Given the description of an element on the screen output the (x, y) to click on. 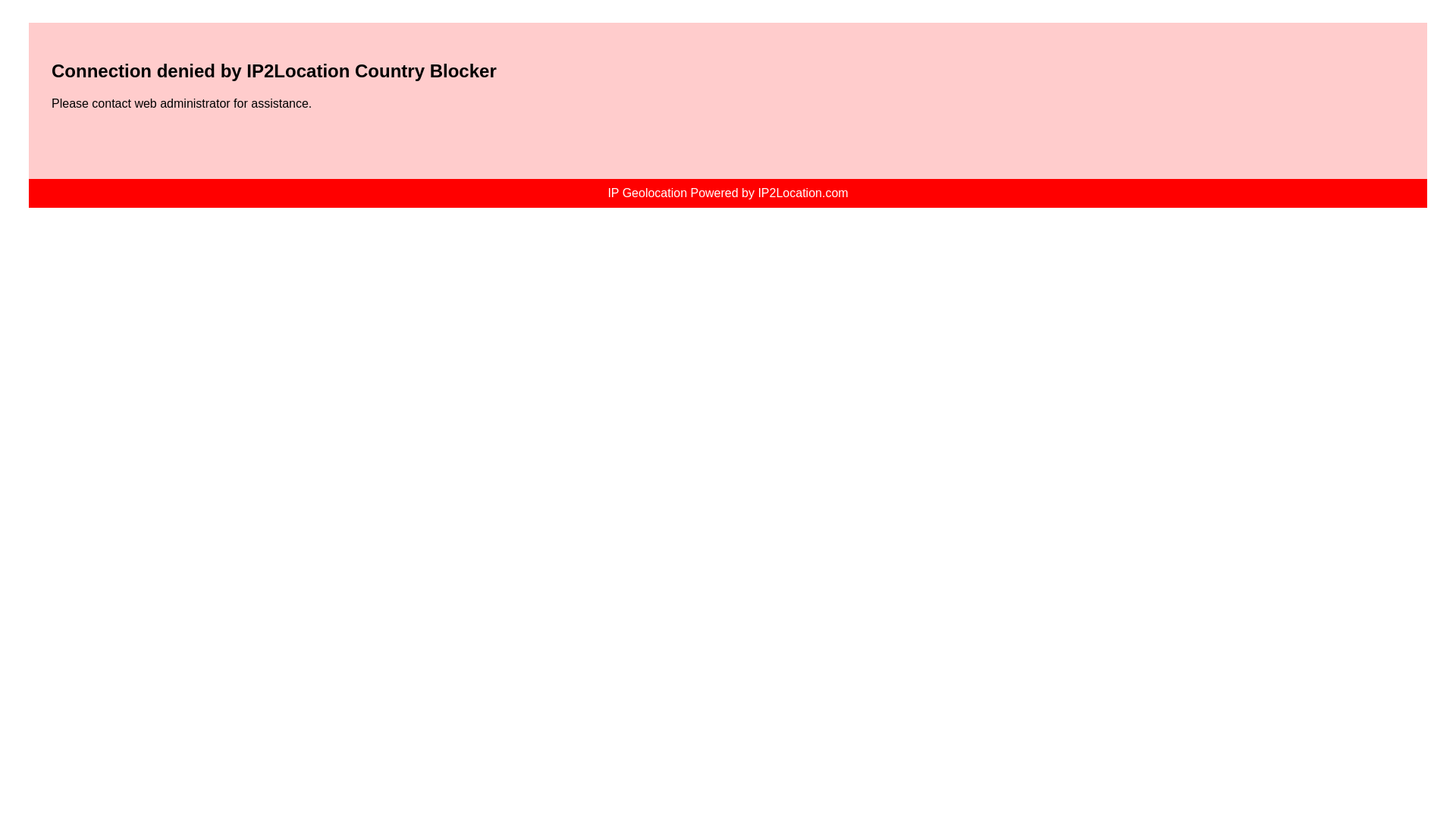
IP Geolocation Powered by IP2Location.com (727, 192)
